Given the description of an element on the screen output the (x, y) to click on. 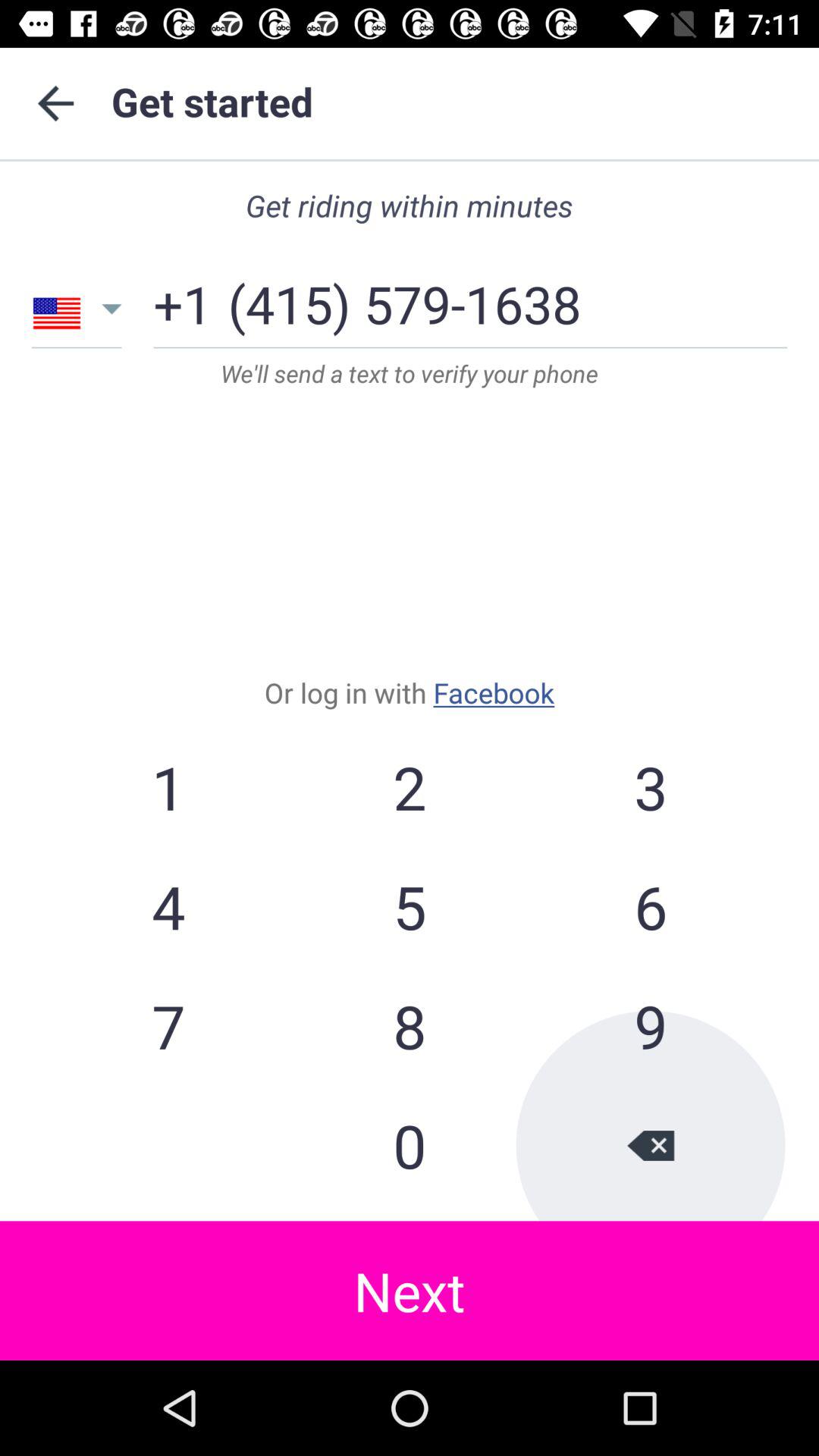
open the icon to the right of the +1 item (404, 298)
